Given the description of an element on the screen output the (x, y) to click on. 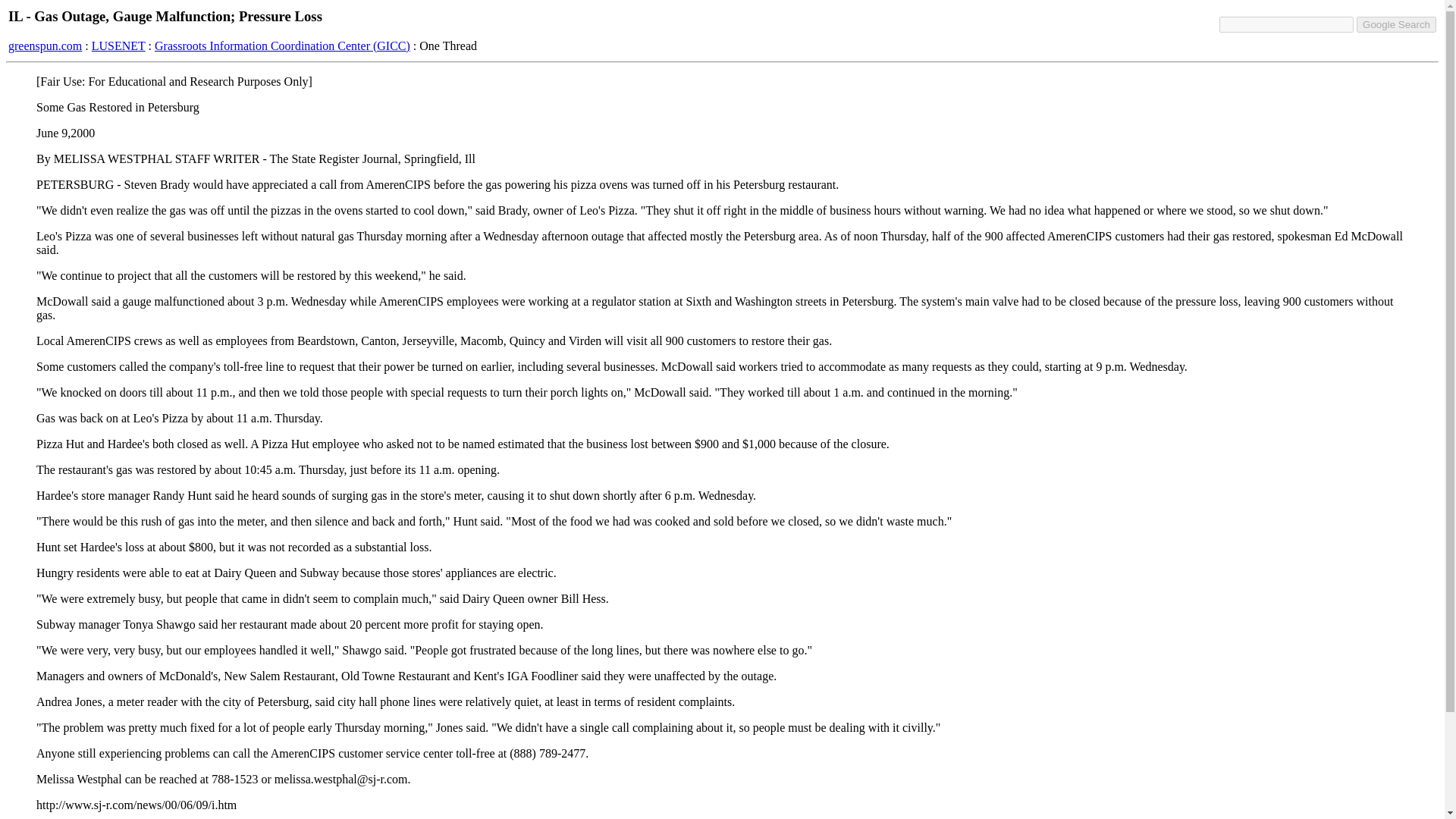
Google Search (1395, 24)
LUSENET (118, 45)
Google Search (1395, 24)
greenspun.com (44, 45)
